Given the description of an element on the screen output the (x, y) to click on. 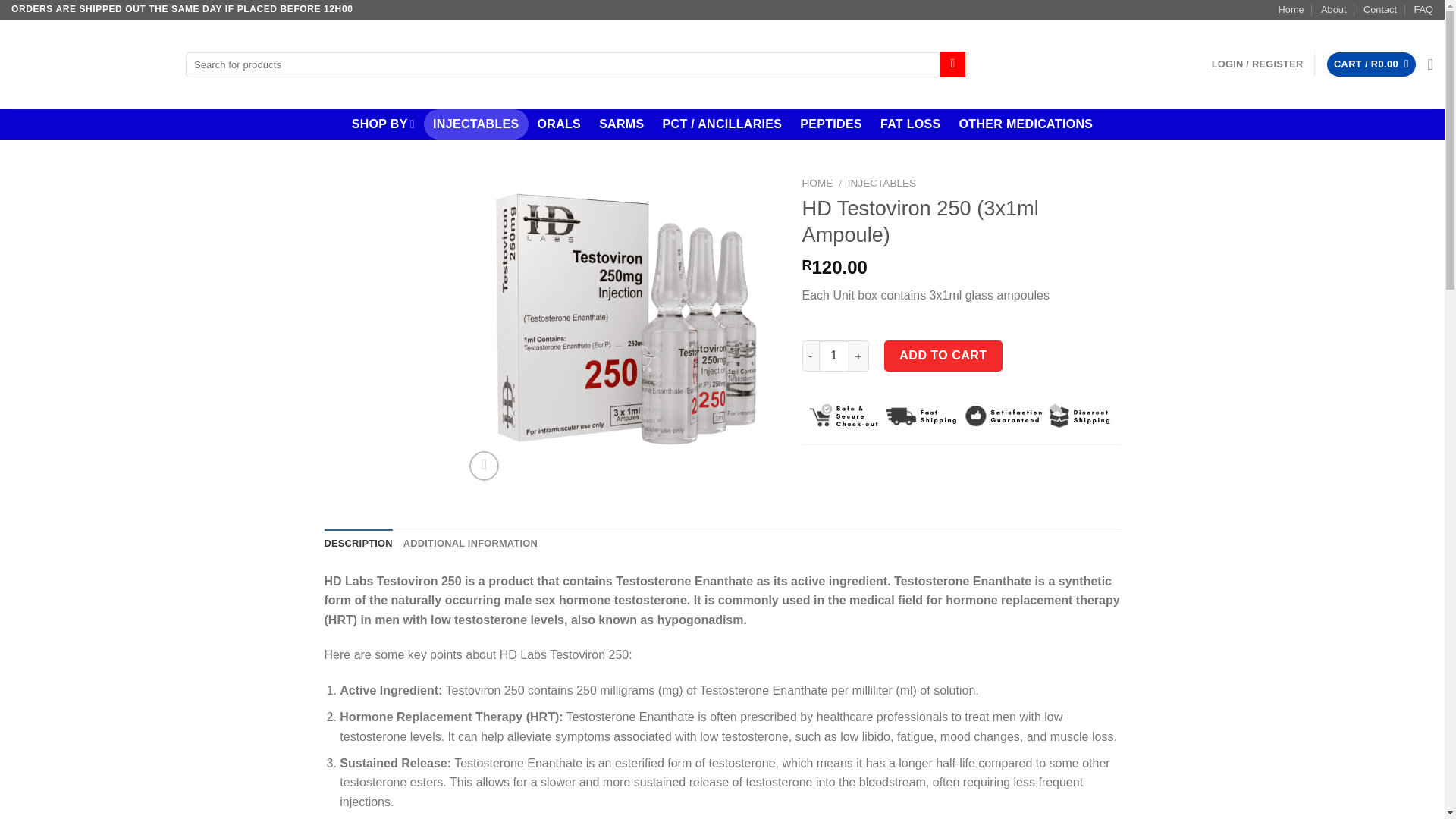
Testiviron Render 2 (619, 328)
Contact (1379, 9)
1 (833, 355)
Zoom (483, 465)
Search (952, 63)
Cart (1370, 64)
About (1332, 9)
SHOP BY (382, 123)
FAQ (1422, 9)
Home (1291, 9)
